Given the description of an element on the screen output the (x, y) to click on. 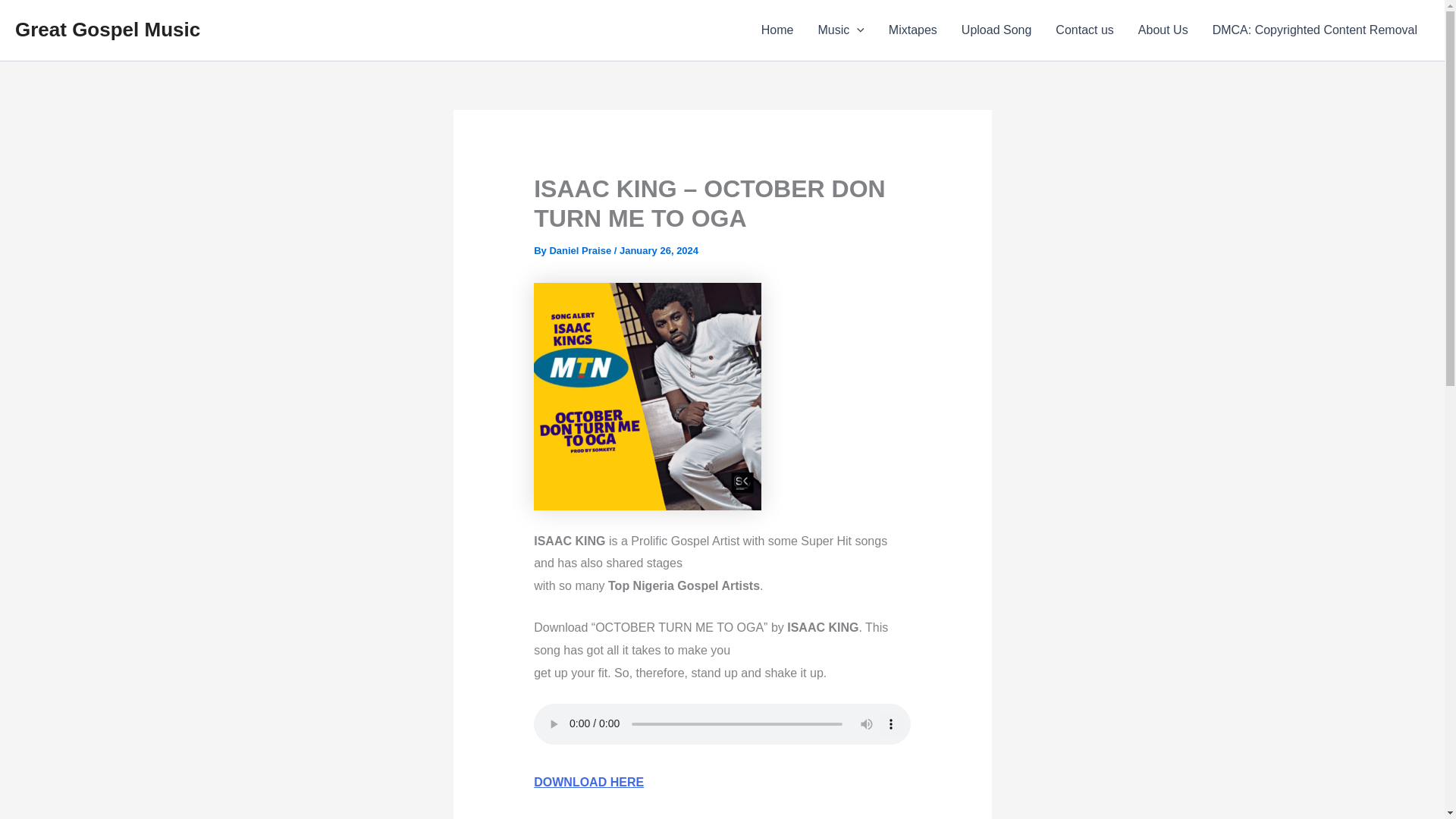
Upload Song (996, 30)
View all posts by Daniel Praise (580, 250)
About Us (1162, 30)
Mixtapes (912, 30)
Great Gospel Music (107, 29)
DOWNLOAD HERE (588, 781)
DMCA: Copyrighted Content Removal (1314, 30)
Home (777, 30)
Music (840, 30)
Daniel Praise (580, 250)
Contact us (1084, 30)
